Given the description of an element on the screen output the (x, y) to click on. 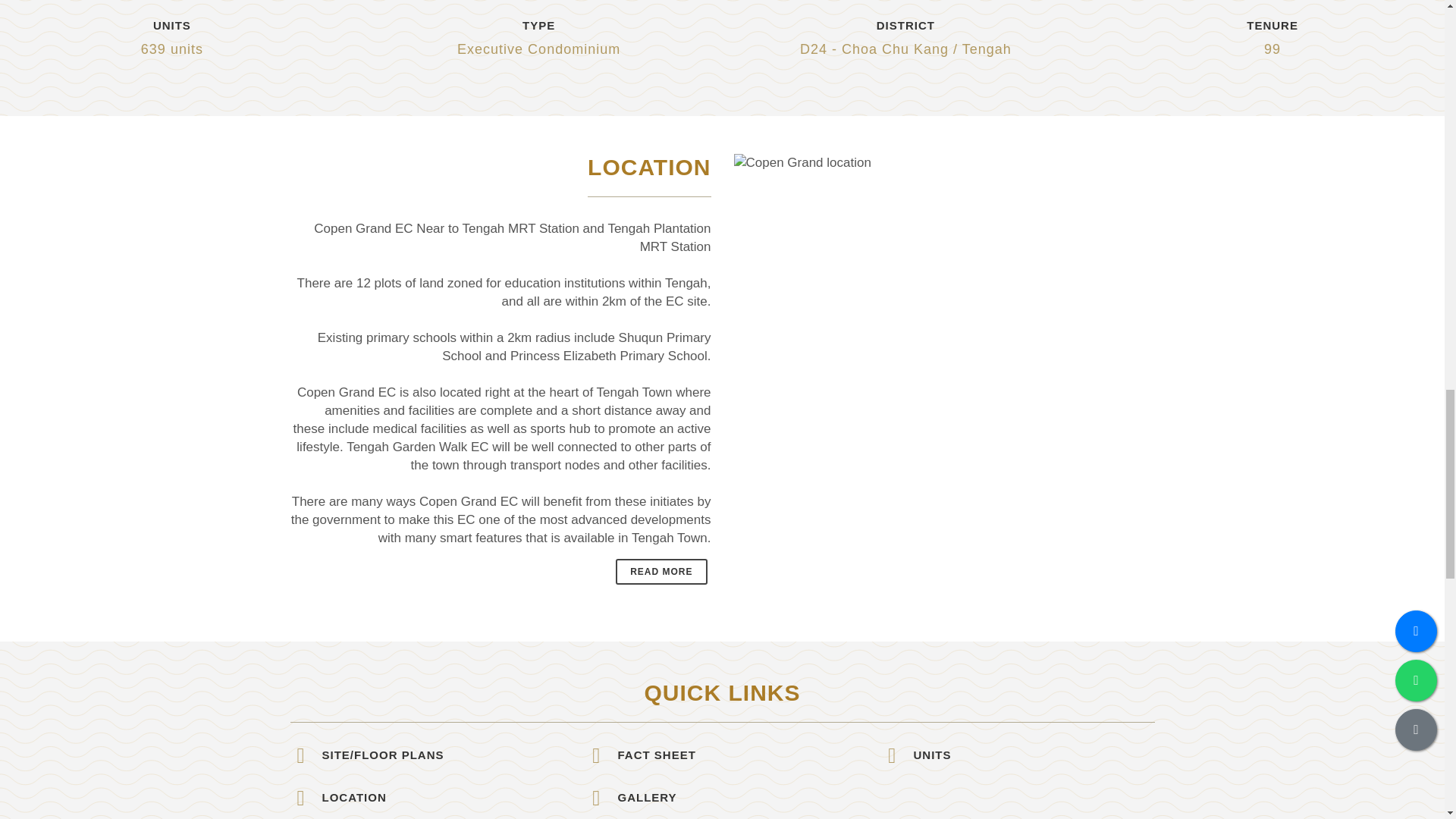
UNITS (1033, 754)
READ MORE (660, 571)
LOCATION (441, 797)
GALLERY (738, 797)
FACT SHEET (738, 754)
